Given the description of an element on the screen output the (x, y) to click on. 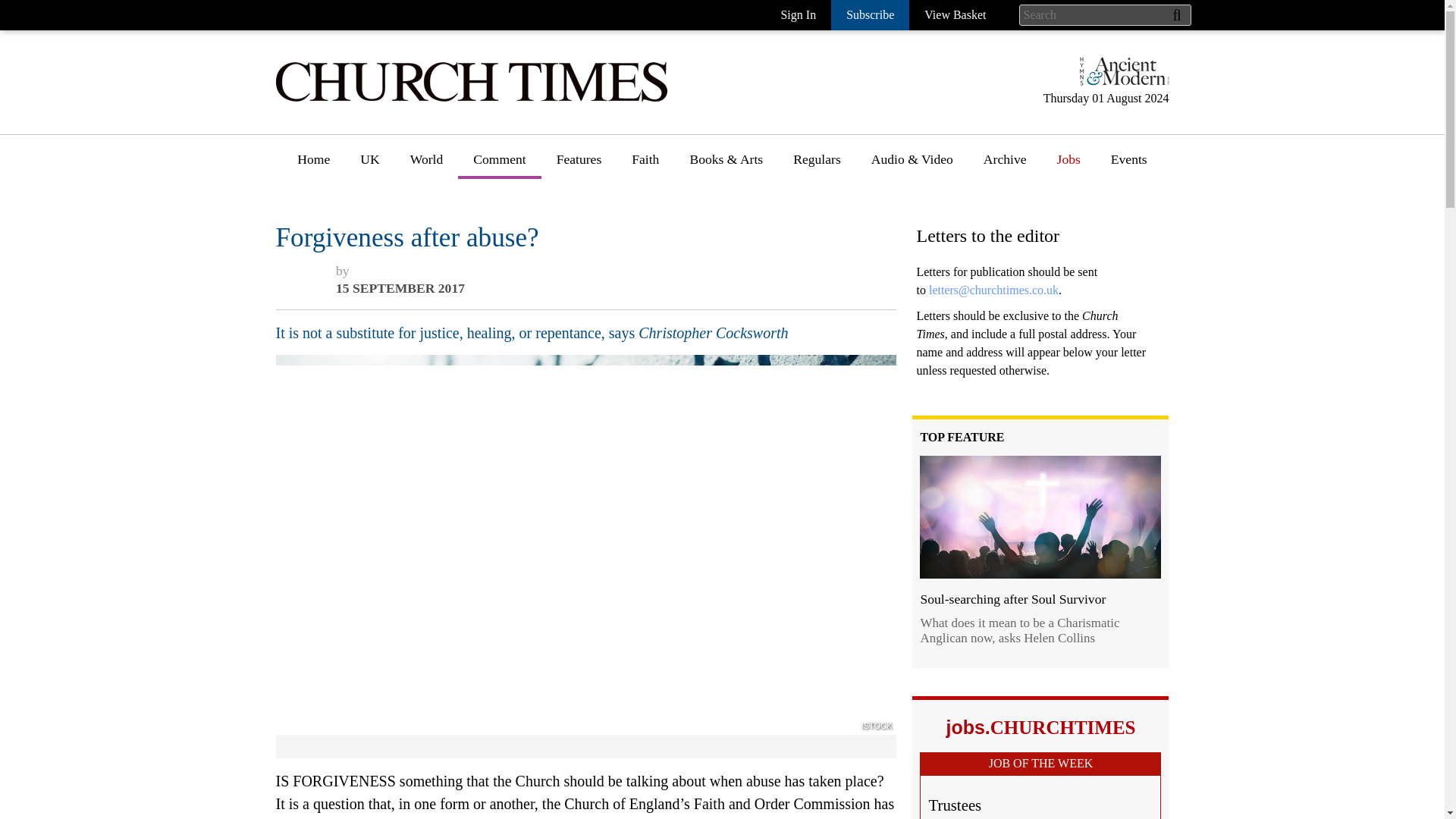
Faith (644, 164)
Radio (705, 428)
New titles (716, 232)
Columnists (504, 260)
World (426, 164)
Faith features (668, 232)
Visual arts (718, 287)
Crossword (823, 287)
Sign In (798, 15)
Book club (717, 260)
Performing arts (731, 343)
Opinion (495, 204)
Book reviews (726, 204)
Features (579, 164)
Letters to the editor (526, 287)
